Given the description of an element on the screen output the (x, y) to click on. 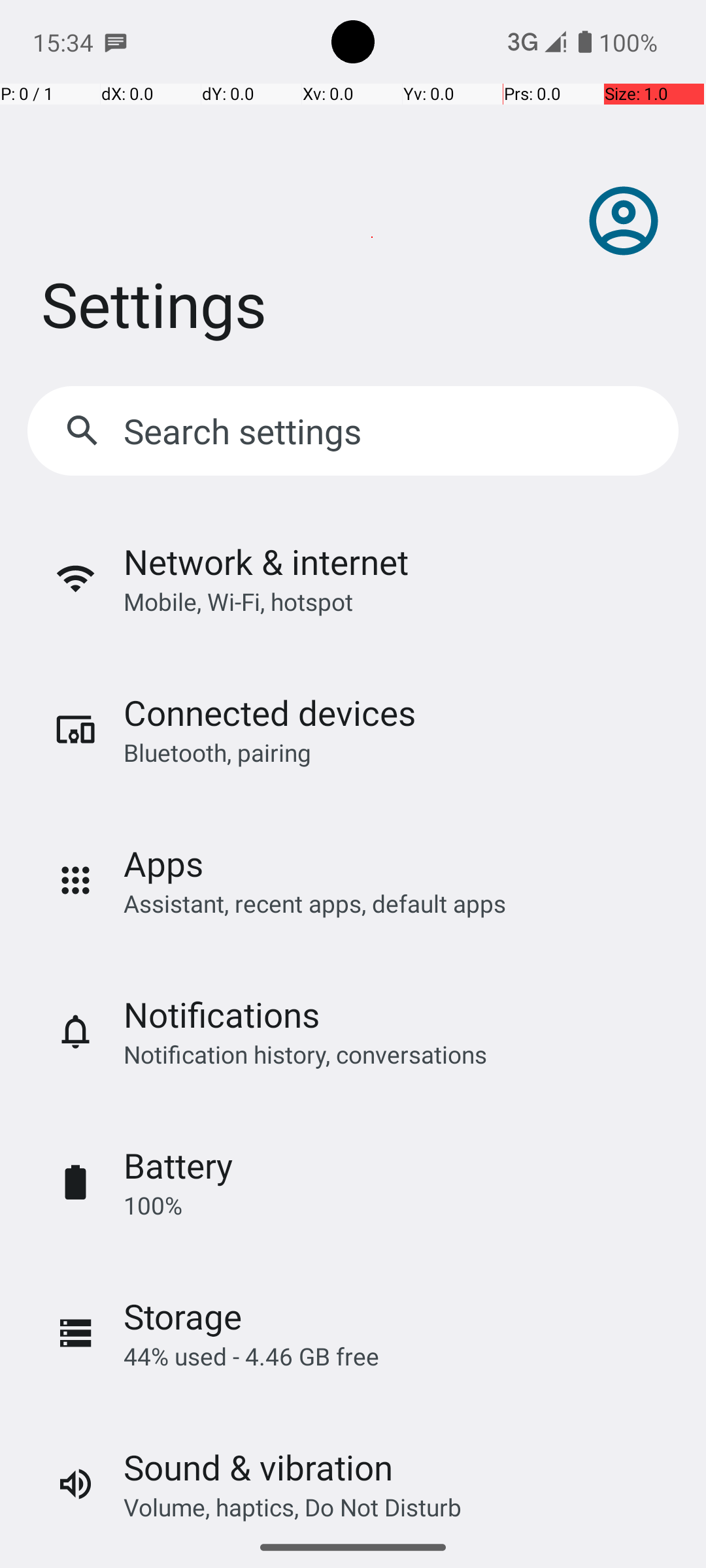
44% used - 4.46 GB free Element type: android.widget.TextView (251, 1355)
